Given the description of an element on the screen output the (x, y) to click on. 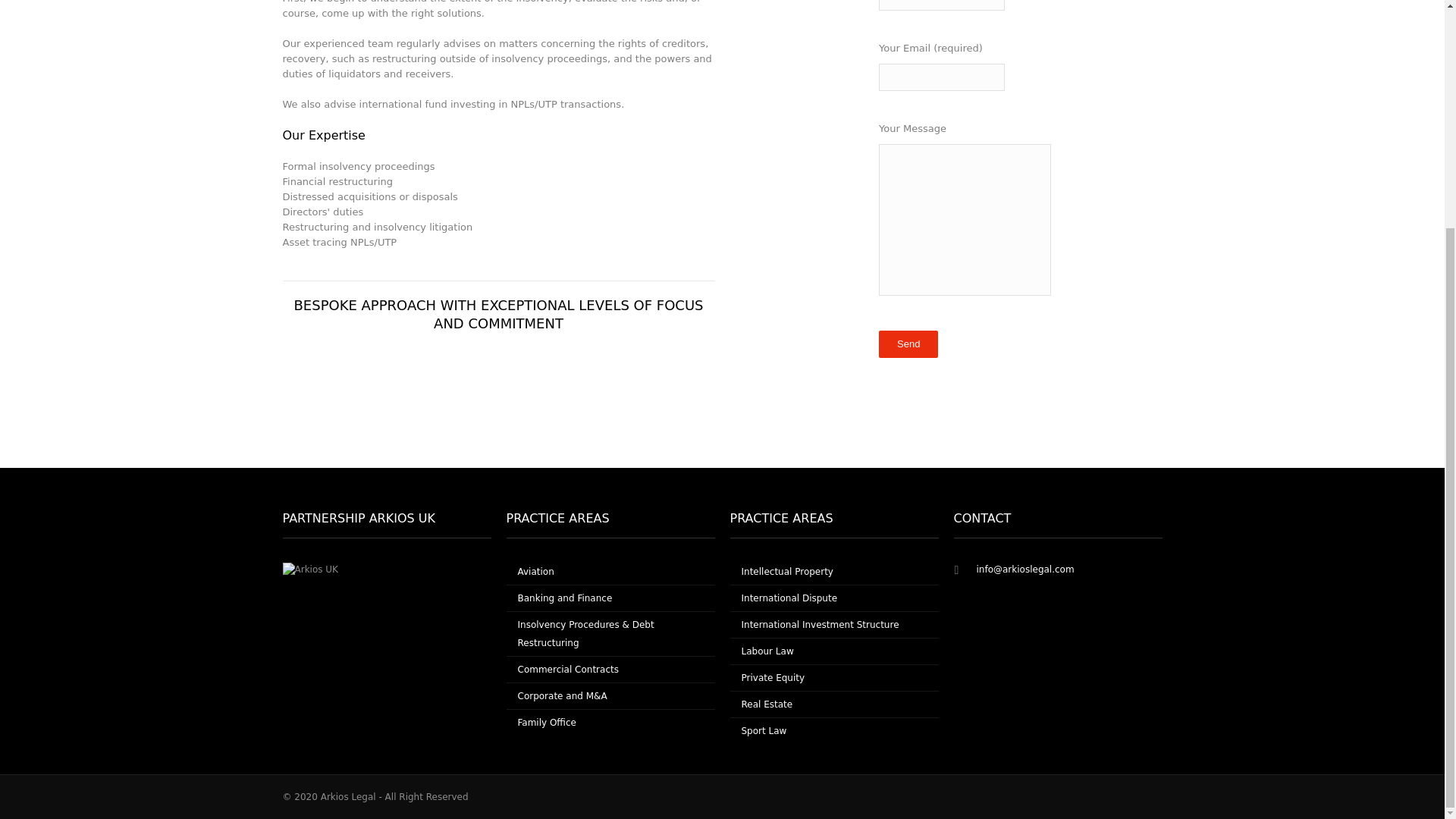
Send (908, 343)
